Given the description of an element on the screen output the (x, y) to click on. 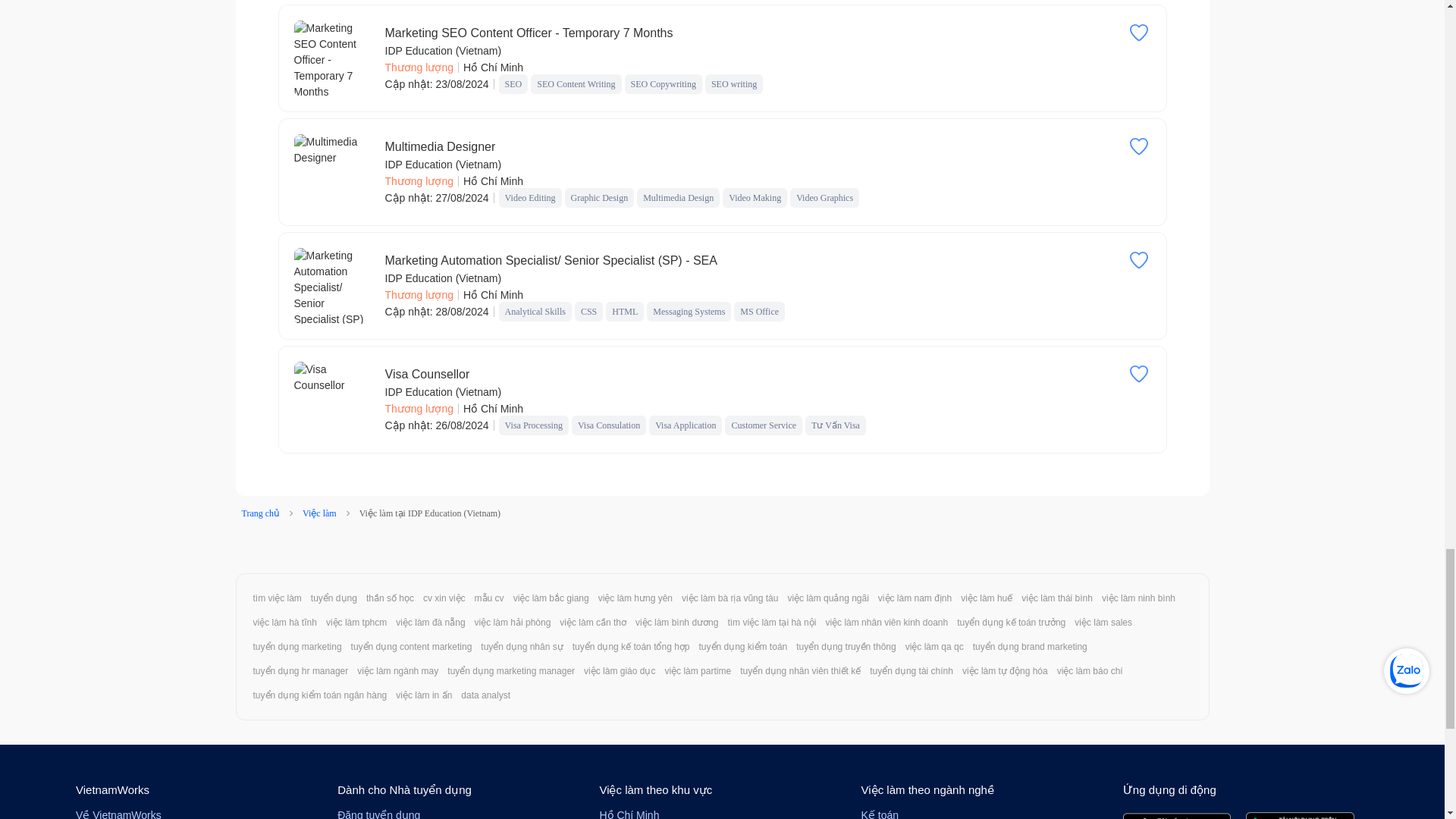
Visa Counsellor (427, 374)
CSS (588, 311)
SEO writing (734, 83)
SEO (513, 83)
SEO Copywriting (662, 83)
Video Graphics (824, 197)
Graphic Design (599, 197)
Video Making (754, 197)
Marketing SEO Content Officer - Temporary 7 Months (331, 58)
SEO Content Writing (575, 83)
